Given the description of an element on the screen output the (x, y) to click on. 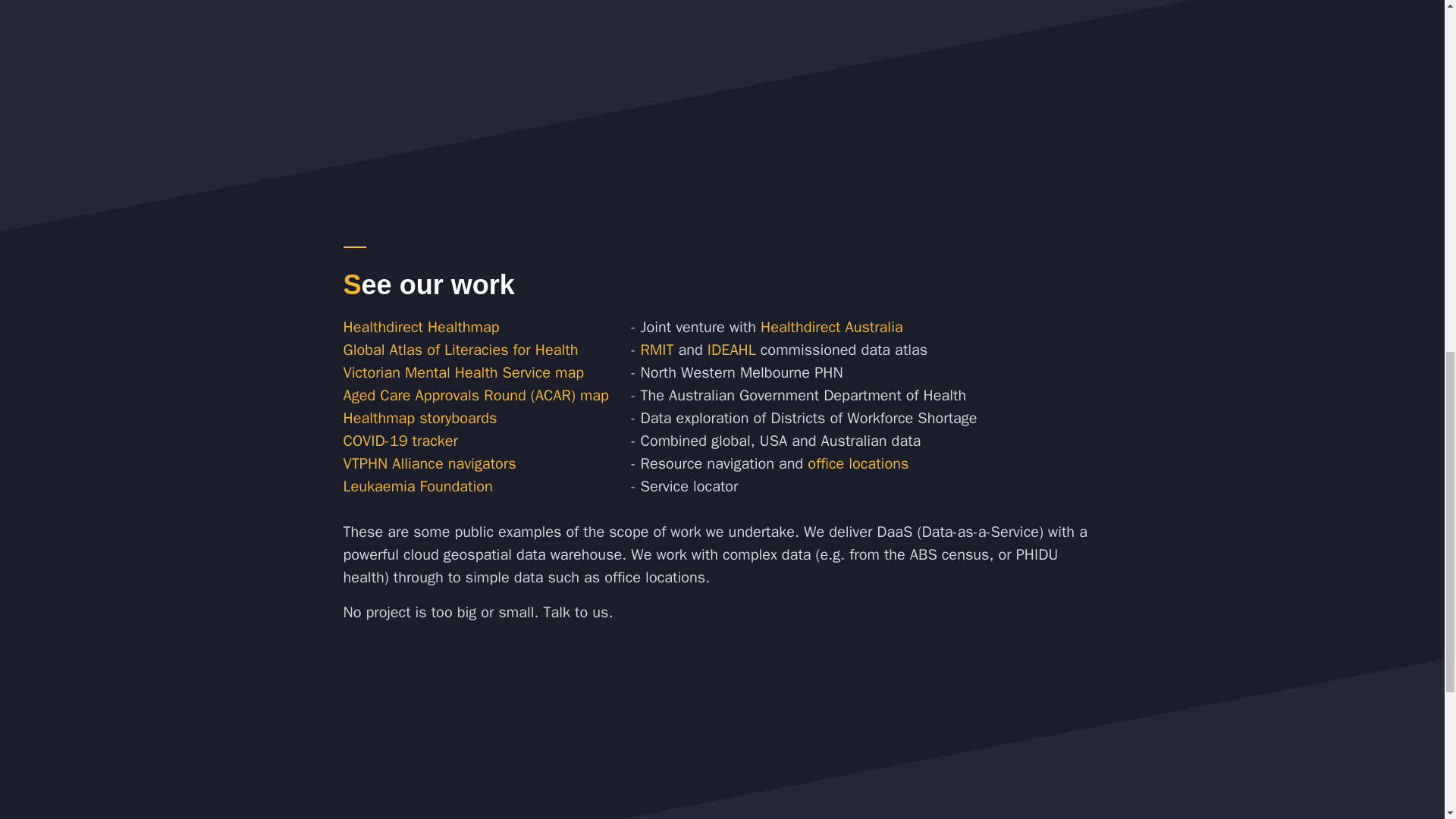
Healthmap storyboards (419, 417)
VTPHN Alliance navigators (428, 463)
Healthdirect Healthmap (420, 326)
IDEAHL (731, 349)
Leukaemia Foundation (417, 486)
Victorian Mental Health Service map (462, 372)
Global Atlas of Literacies for Health (460, 349)
Healthdirect Australia (831, 326)
RMIT (656, 349)
COVID-19 tracker (399, 440)
